Given the description of an element on the screen output the (x, y) to click on. 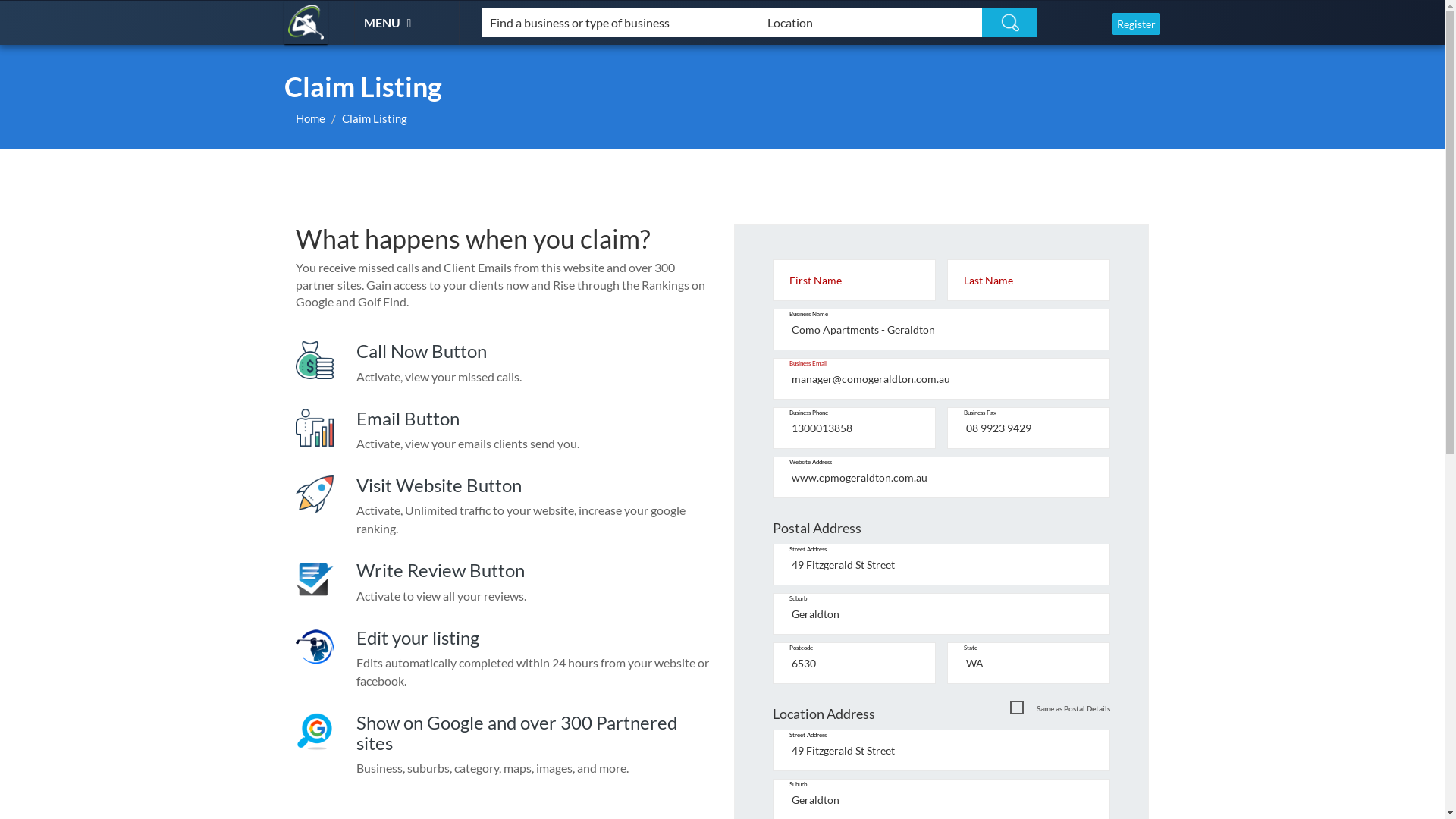
Home Element type: text (310, 118)
MENU Element type: text (389, 22)
Claim Listing Element type: text (374, 118)
Golf Find | Club Courses Australia Element type: hover (305, 21)
Register Element type: text (1136, 23)
